Given the description of an element on the screen output the (x, y) to click on. 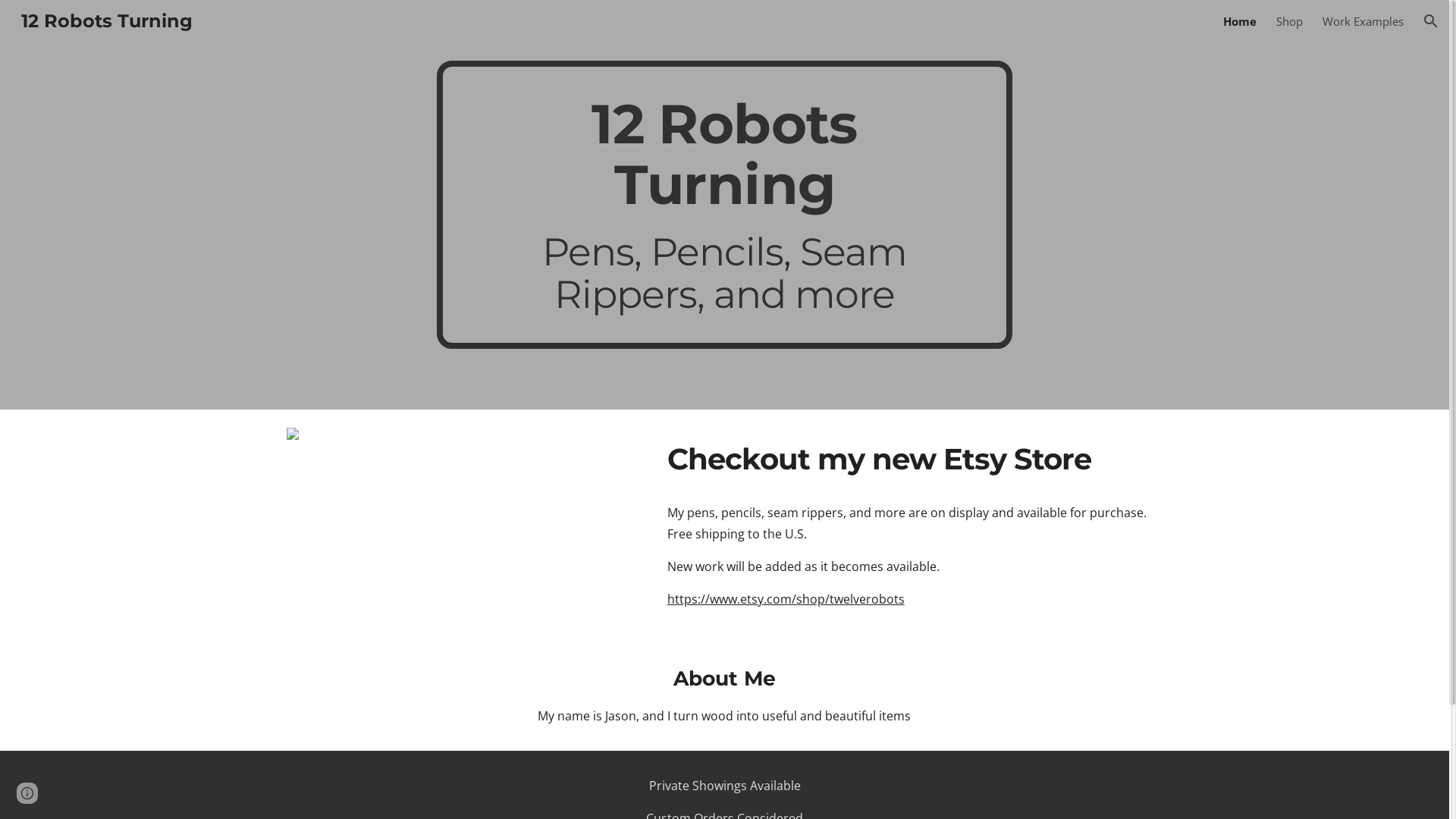
Home Element type: text (1239, 20)
Shop Element type: text (1289, 20)
https://www.etsy.com/shop/twelverobots Element type: text (785, 598)
12 Robots Turning Element type: text (106, 19)
Work Examples Element type: text (1362, 20)
